Given the description of an element on the screen output the (x, y) to click on. 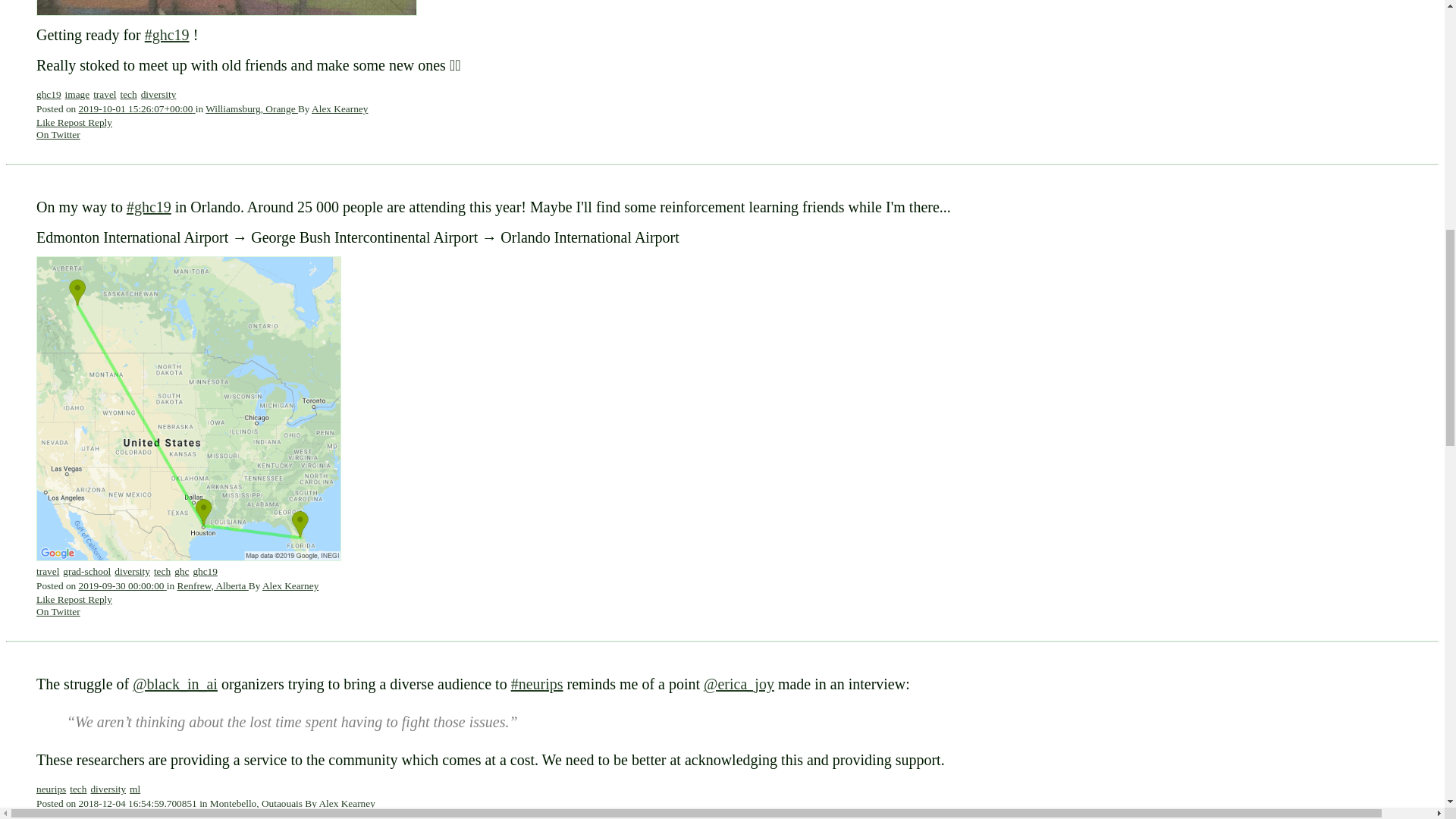
diversity (132, 571)
tech (127, 93)
Williamsburg, Orange (251, 108)
Repost (72, 599)
On Twitter (58, 134)
Like (47, 599)
travel (47, 571)
ghc19 (48, 93)
Alex Kearney (290, 585)
ghc (181, 571)
